Given the description of an element on the screen output the (x, y) to click on. 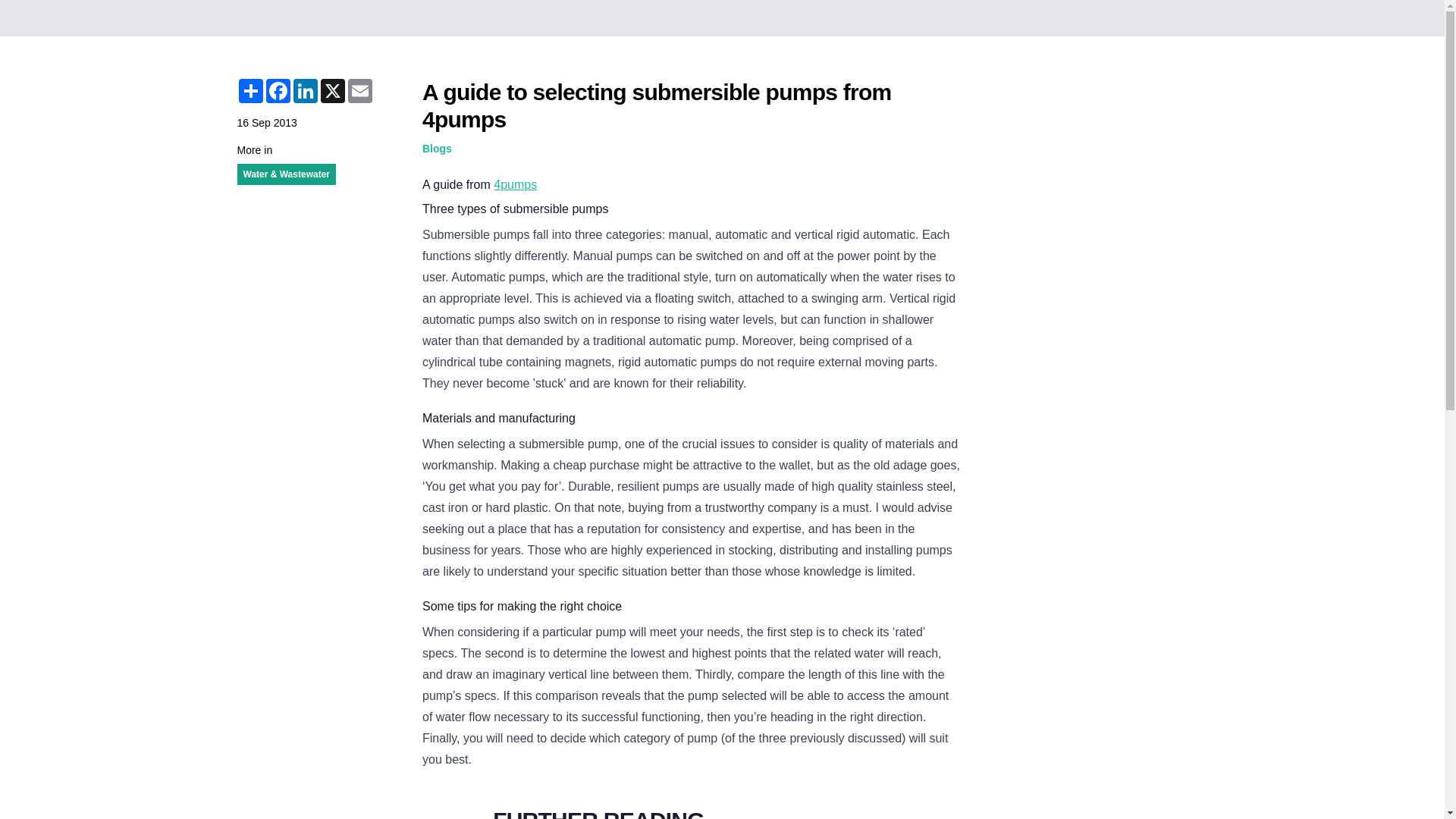
X (332, 90)
LinkedIn (304, 90)
Facebook (277, 90)
Email (359, 90)
